Given the description of an element on the screen output the (x, y) to click on. 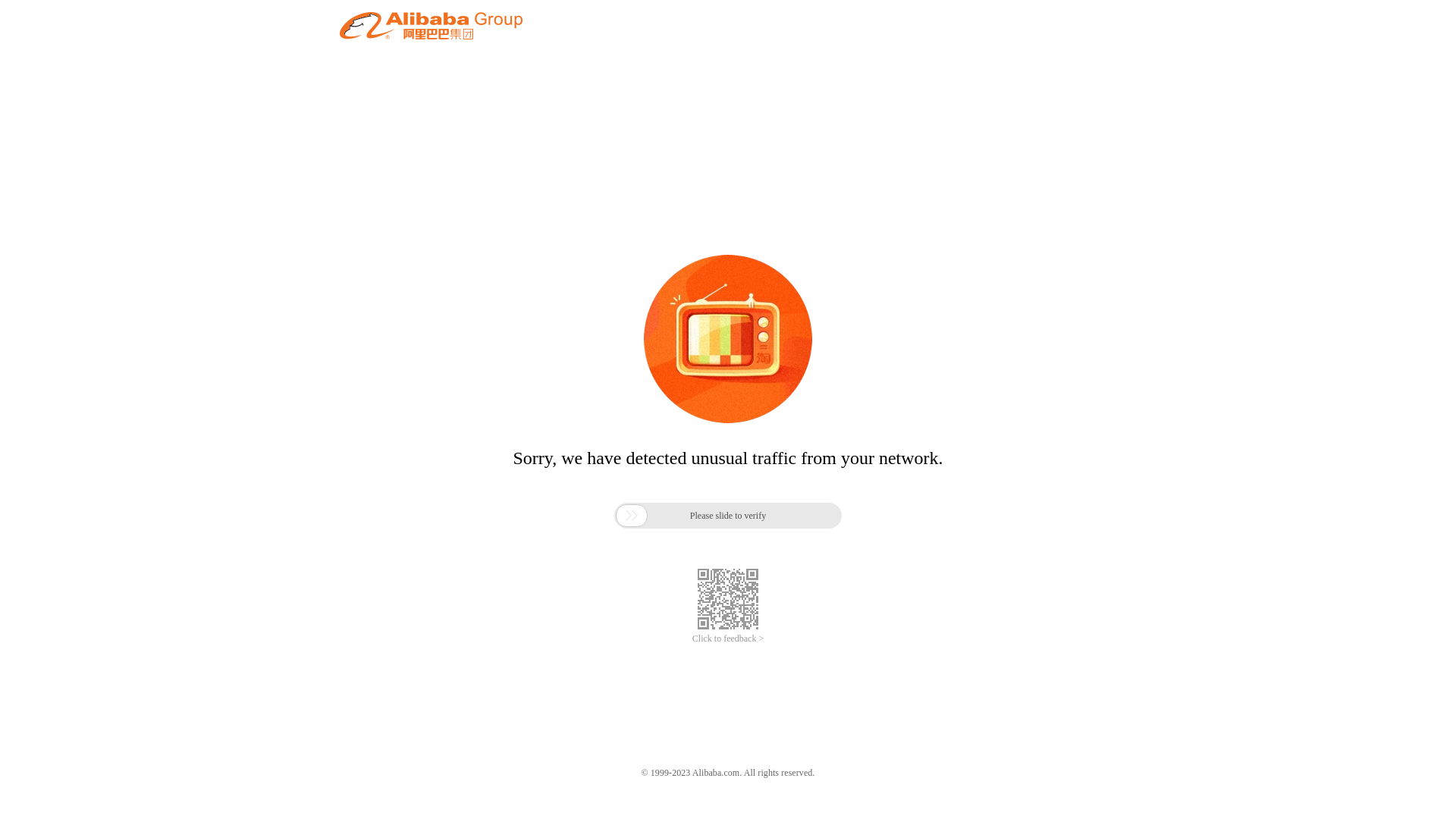
Click to feedback > Element type: text (727, 638)
